Given the description of an element on the screen output the (x, y) to click on. 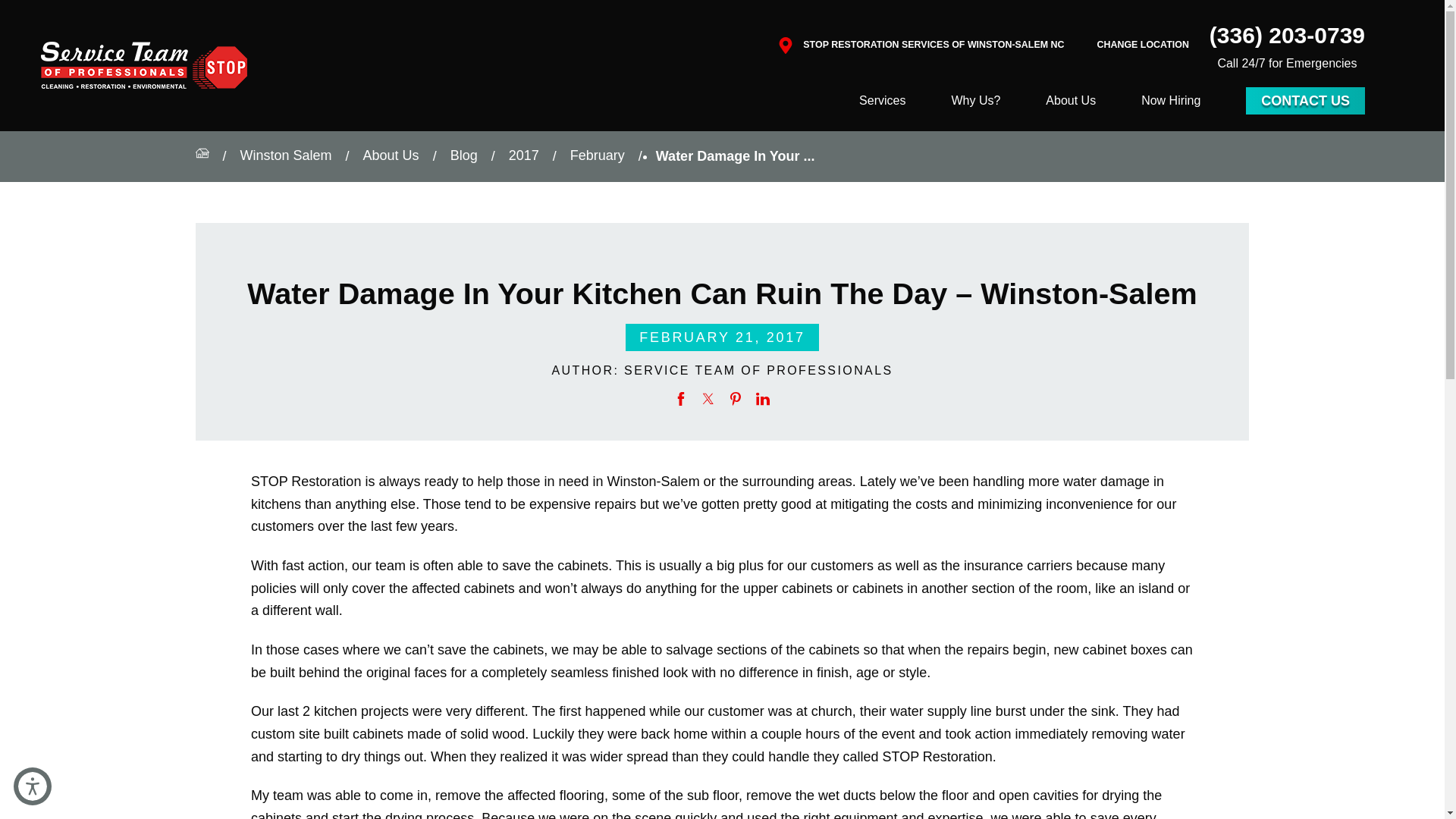
Open the accessibility options menu (31, 786)
STOP RESTORATION SERVICES OF WINSTON-SALEM NC (933, 44)
CHANGE LOCATION (1142, 45)
Now Hiring (1170, 100)
Services (882, 100)
About Us (1070, 100)
CONTACT US (1305, 100)
STOP Restoration (143, 65)
Why Us? (975, 100)
